Given the description of an element on the screen output the (x, y) to click on. 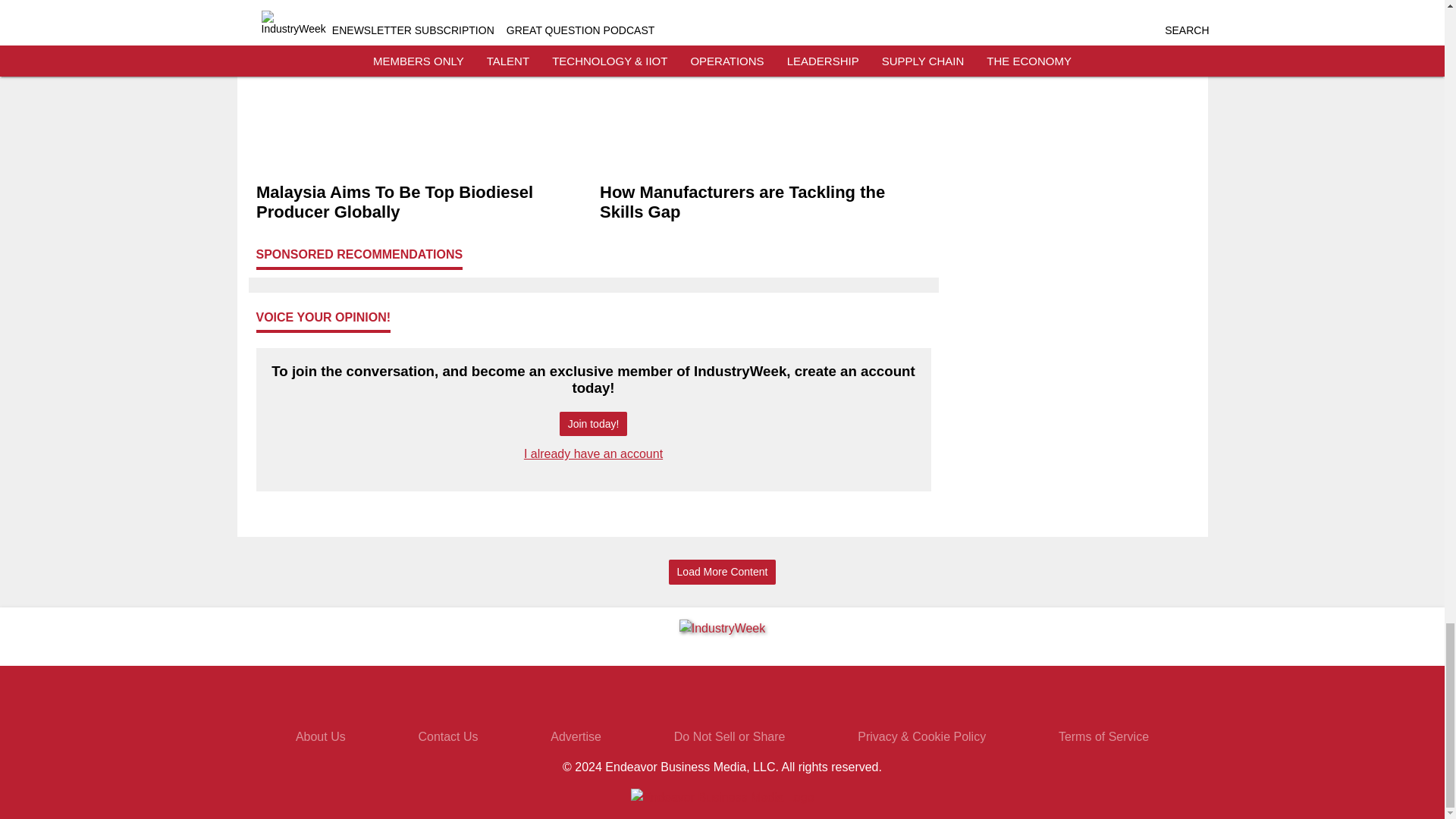
Join today! (593, 423)
I already have an account (593, 453)
Malaysia Aims To Be Top Biodiesel Producer Globally (422, 201)
How Manufacturers are Tackling the Skills Gap (764, 201)
